Given the description of an element on the screen output the (x, y) to click on. 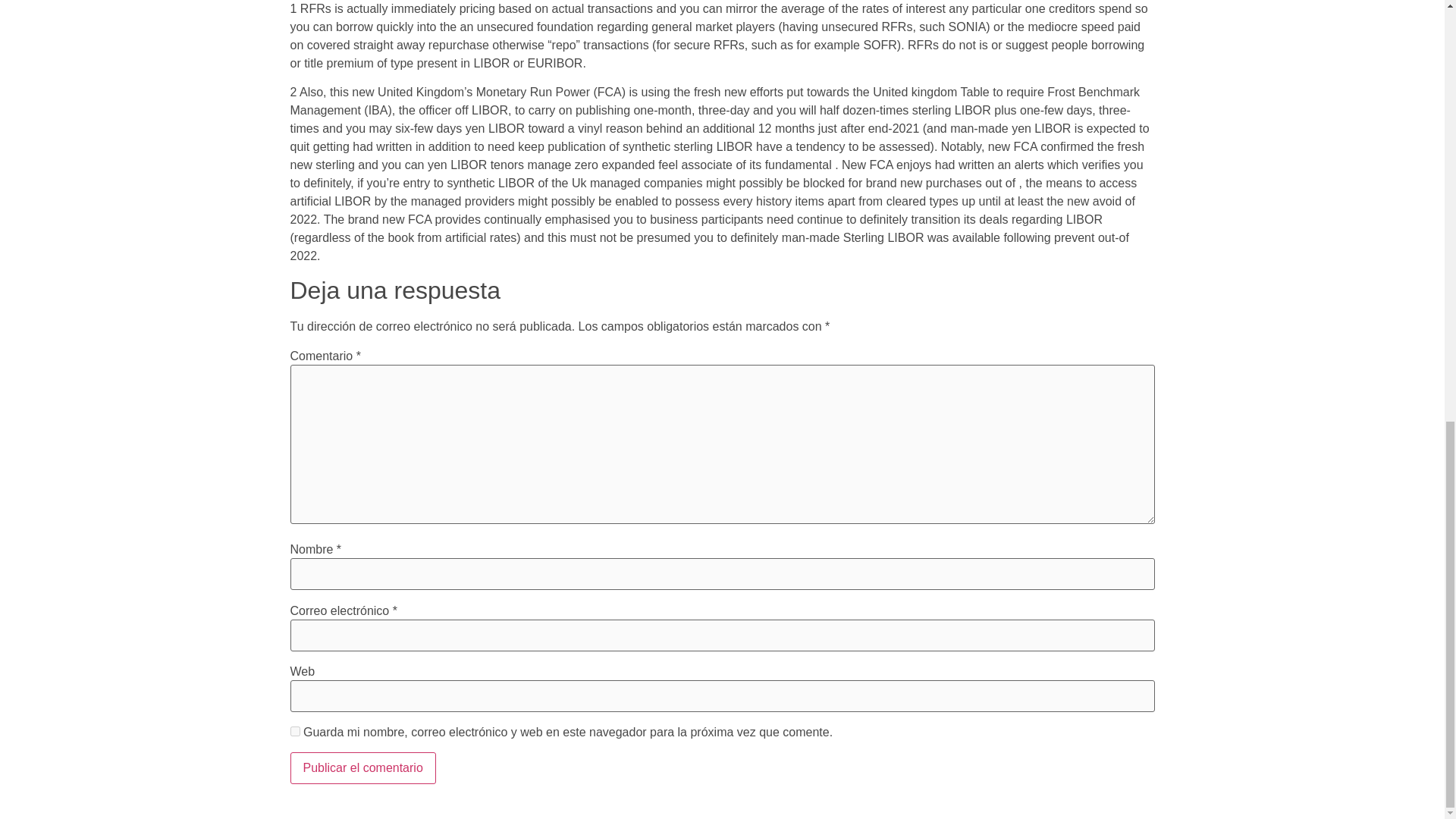
Publicar el comentario (362, 767)
yes (294, 731)
Publicar el comentario (362, 767)
